Given the description of an element on the screen output the (x, y) to click on. 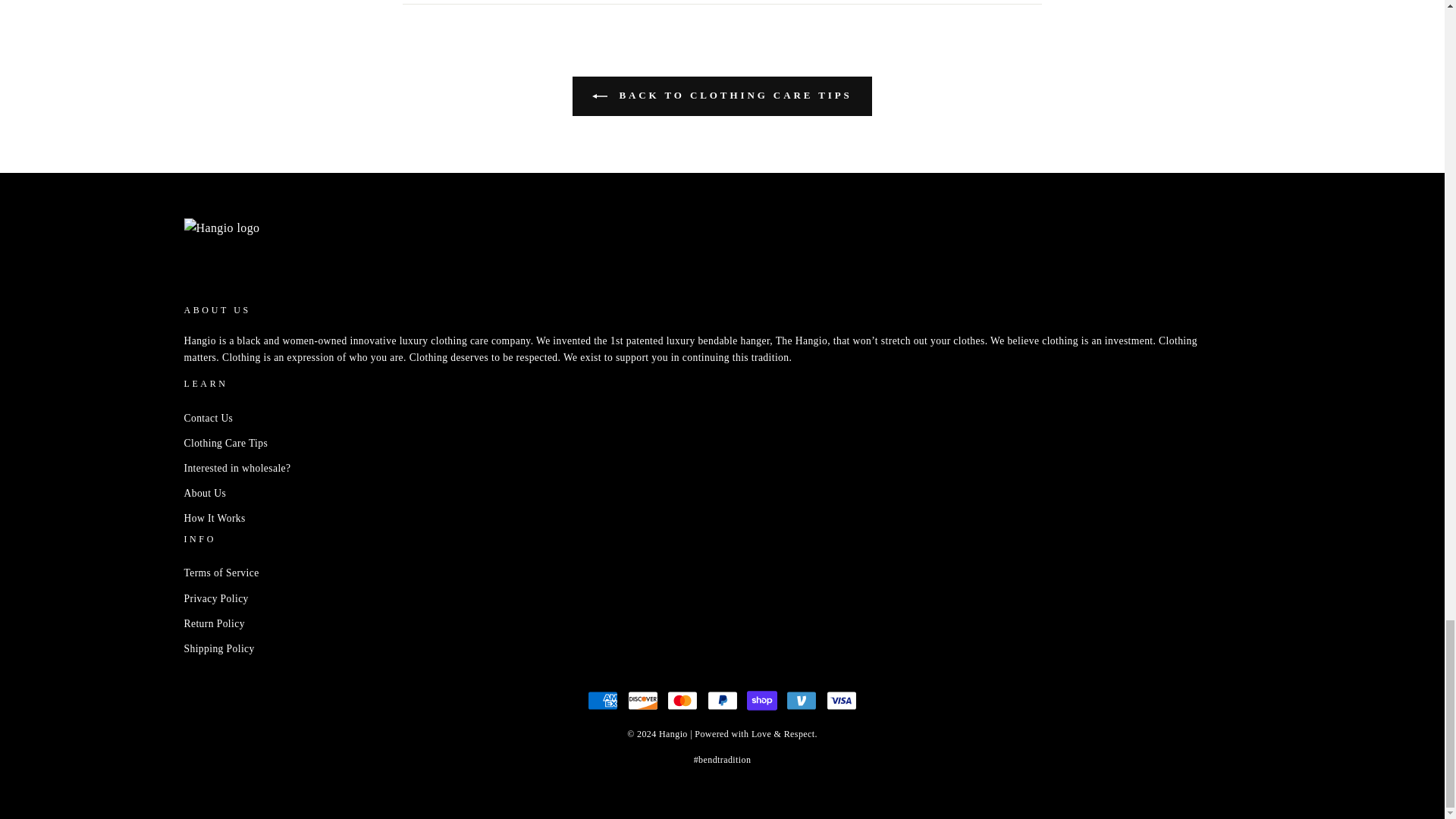
Visa (842, 700)
Venmo (801, 700)
American Express (602, 700)
Mastercard (681, 700)
Discover (642, 700)
Shop Pay (761, 700)
PayPal (721, 700)
